Given the description of an element on the screen output the (x, y) to click on. 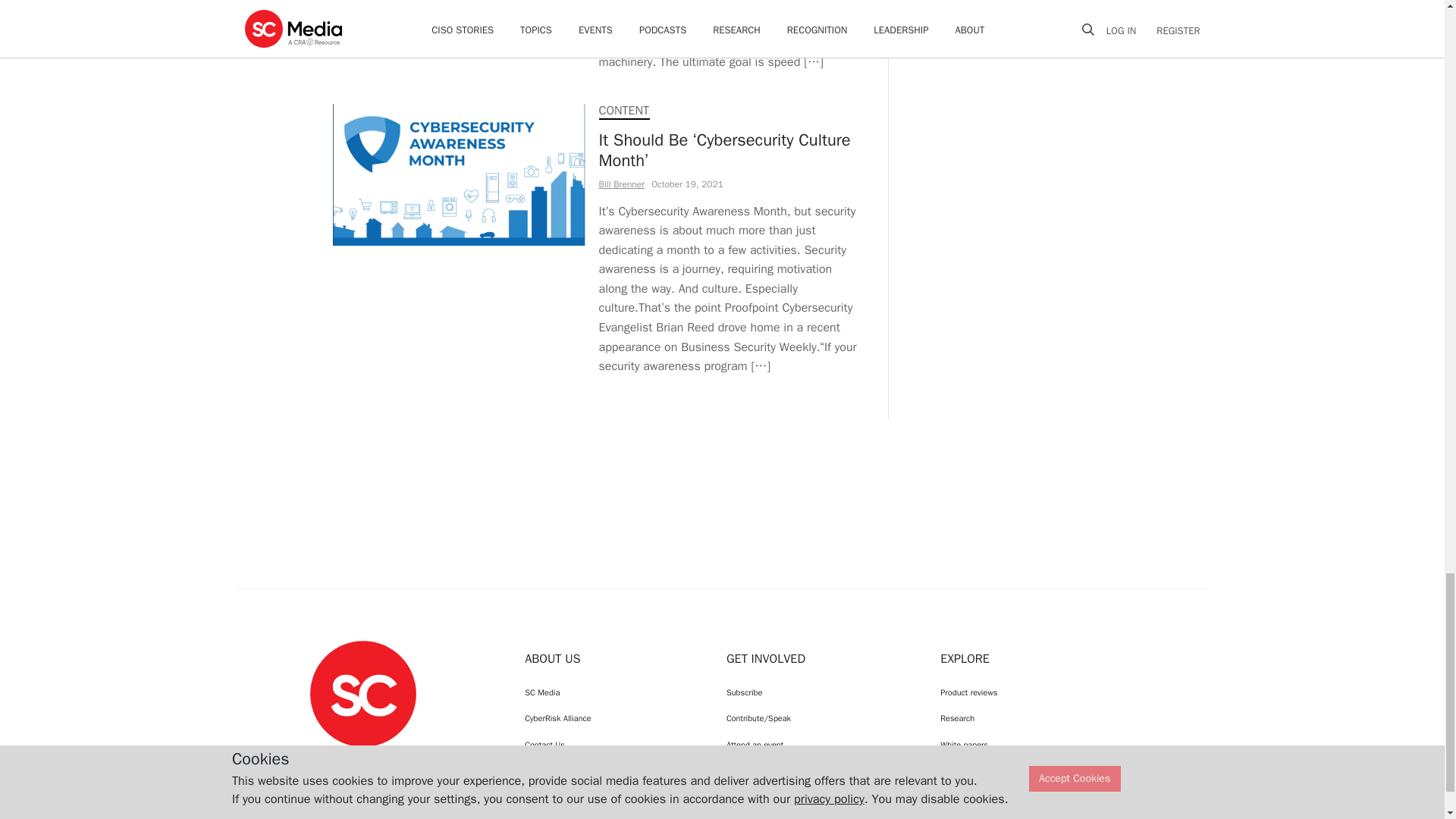
SCMagazine on LinkedIn (401, 760)
SC Media (362, 693)
SCMagazine on Facebook (324, 760)
SCMagazine on Twitter (362, 760)
Bill Brenner (621, 184)
CONTENT (623, 110)
SC Media (612, 692)
